Given the description of an element on the screen output the (x, y) to click on. 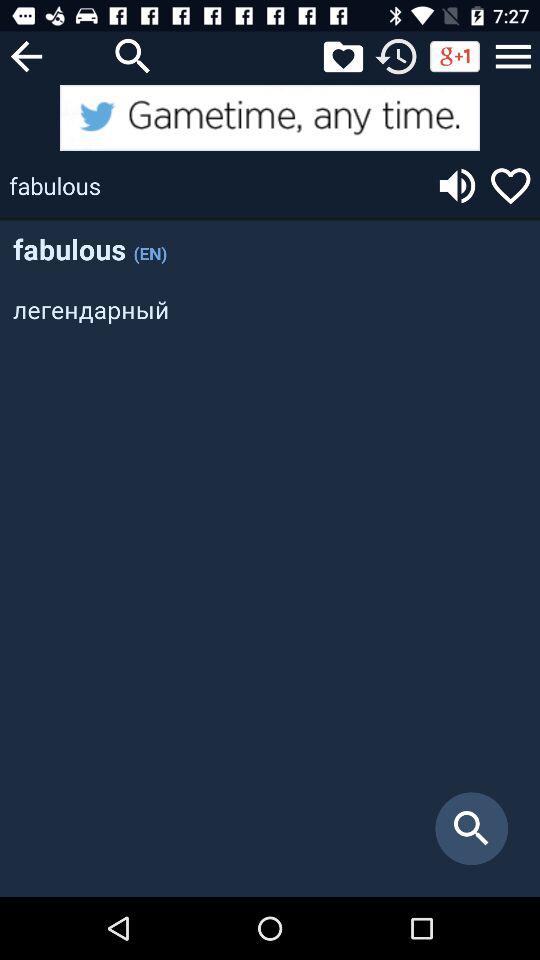
like this option (510, 185)
